Given the description of an element on the screen output the (x, y) to click on. 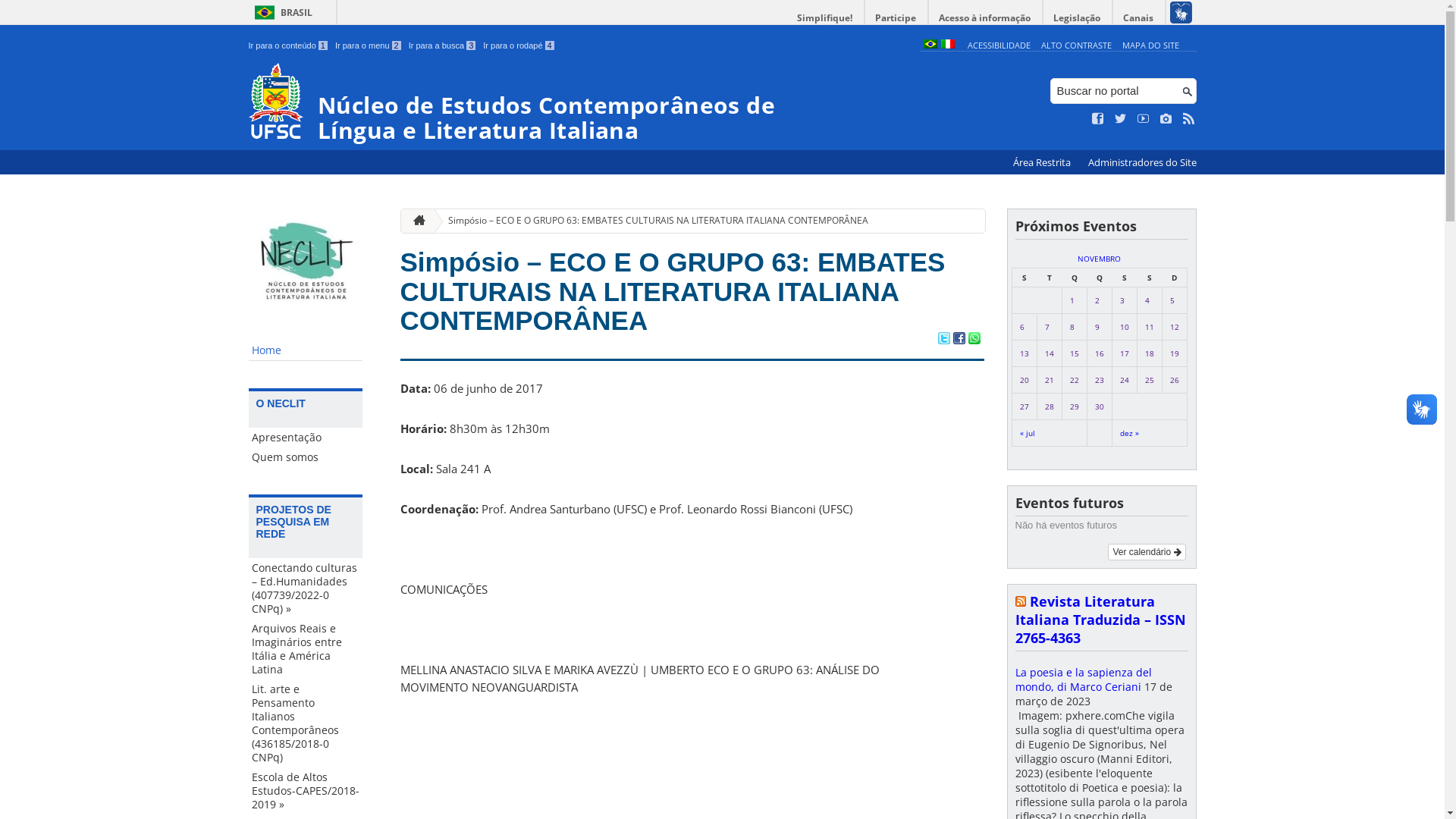
BRASIL Element type: text (280, 12)
9 Element type: text (1097, 326)
Quem somos Element type: text (305, 457)
MAPA DO SITE Element type: text (1150, 44)
Home Element type: text (305, 350)
Canais Element type: text (1138, 18)
16 Element type: text (1099, 353)
13 Element type: text (1023, 353)
La poesia e la sapienza del mondo, di Marco Ceriani Element type: text (1082, 679)
4 Element type: text (1147, 299)
17 Element type: text (1123, 353)
14 Element type: text (1049, 353)
Ir para a busca 3 Element type: text (442, 45)
3 Element type: text (1121, 299)
Siga no Twitter Element type: hover (1120, 118)
8 Element type: text (1071, 326)
Curta no Facebook Element type: hover (1098, 118)
Participe Element type: text (895, 18)
Compartilhar no Facebook Element type: hover (958, 339)
Administradores do Site Element type: text (1141, 162)
2 Element type: text (1097, 299)
24 Element type: text (1123, 379)
Compartilhar no WhatsApp Element type: hover (973, 339)
18 Element type: text (1149, 353)
Italiano (it) Element type: hover (946, 44)
21 Element type: text (1049, 379)
Ir para o menu 2 Element type: text (368, 45)
ACESSIBILIDADE Element type: text (998, 44)
29 Element type: text (1073, 406)
1 Element type: text (1071, 299)
5 Element type: text (1171, 299)
20 Element type: text (1023, 379)
NOVEMBRO Element type: text (1098, 258)
22 Element type: text (1073, 379)
Simplifique! Element type: text (825, 18)
26 Element type: text (1173, 379)
6 Element type: text (1021, 326)
7 Element type: text (1046, 326)
30 Element type: text (1099, 406)
19 Element type: text (1173, 353)
15 Element type: text (1073, 353)
Compartilhar no Twitter Element type: hover (943, 339)
23 Element type: text (1099, 379)
28 Element type: text (1049, 406)
11 Element type: text (1149, 326)
ALTO CONTRASTE Element type: text (1076, 44)
27 Element type: text (1023, 406)
12 Element type: text (1173, 326)
Veja no Instagram Element type: hover (1166, 118)
10 Element type: text (1123, 326)
25 Element type: text (1149, 379)
